Given the description of an element on the screen output the (x, y) to click on. 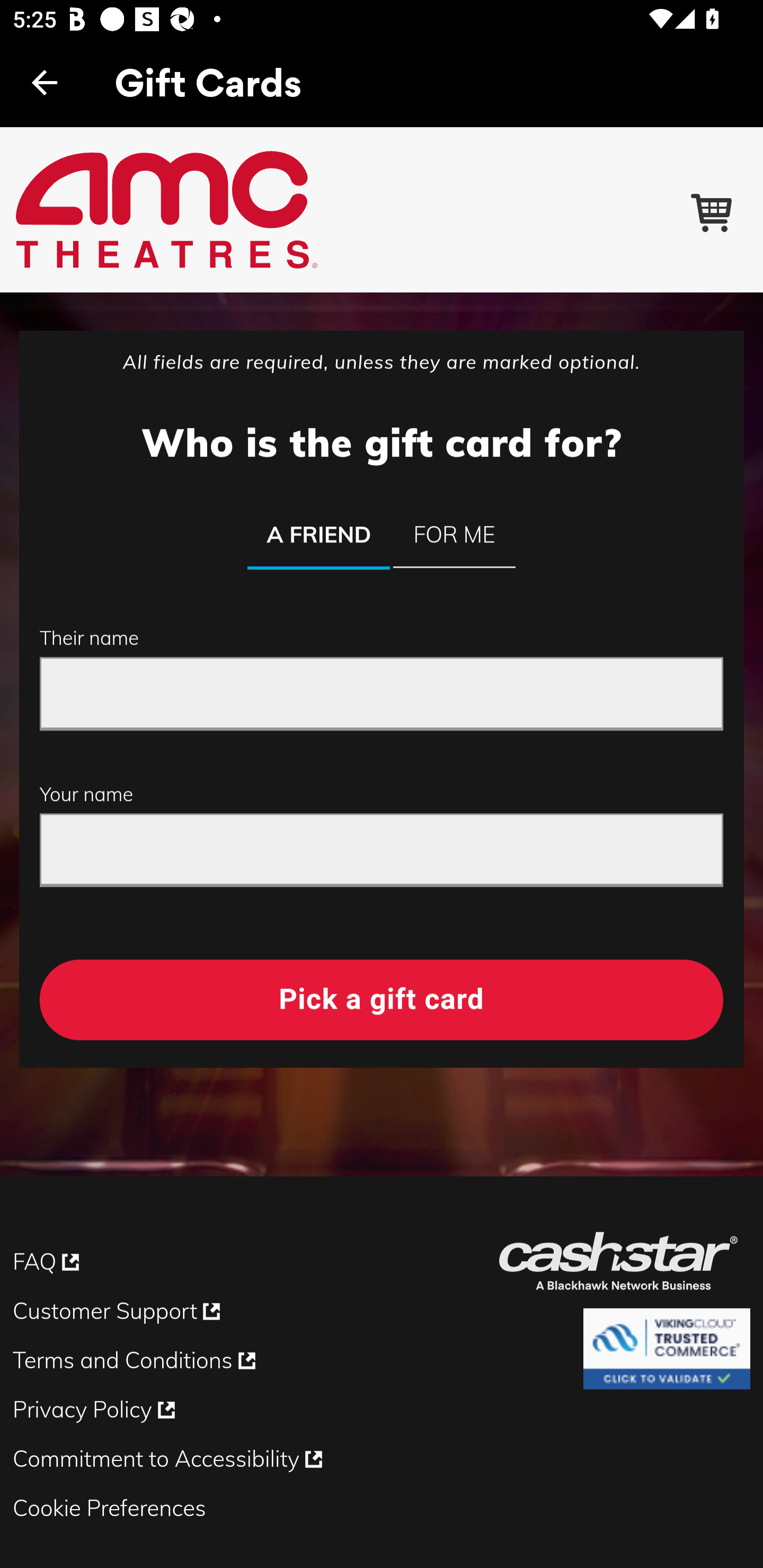
Back (44, 82)
Go to cart page - 0 item (712, 209)
A FRIEND (318, 535)
FOR ME (454, 535)
Pick a gift card (381, 999)
CashStar, A Blackhawk Network Business (624, 1269)
FAQ (47, 1268)
Customer Support (118, 1317)
Terms and Conditions (135, 1367)
Privacy Policy (94, 1416)
Commitment to Accessibility (168, 1465)
